Given the description of an element on the screen output the (x, y) to click on. 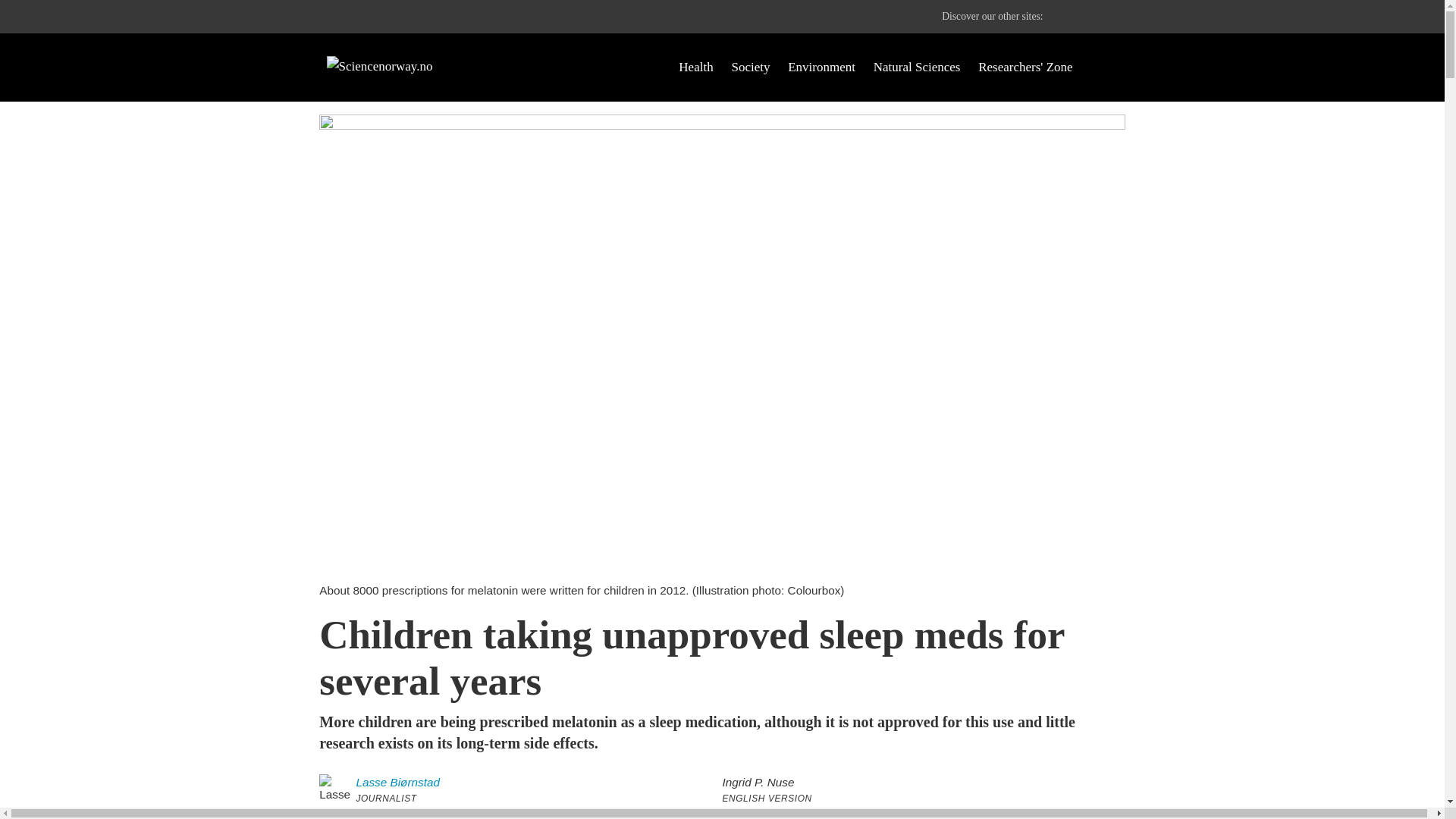
Society (750, 66)
Natural Sciences (916, 66)
Health (695, 66)
Environment (821, 66)
Researchers' Zone (1024, 66)
